Given the description of an element on the screen output the (x, y) to click on. 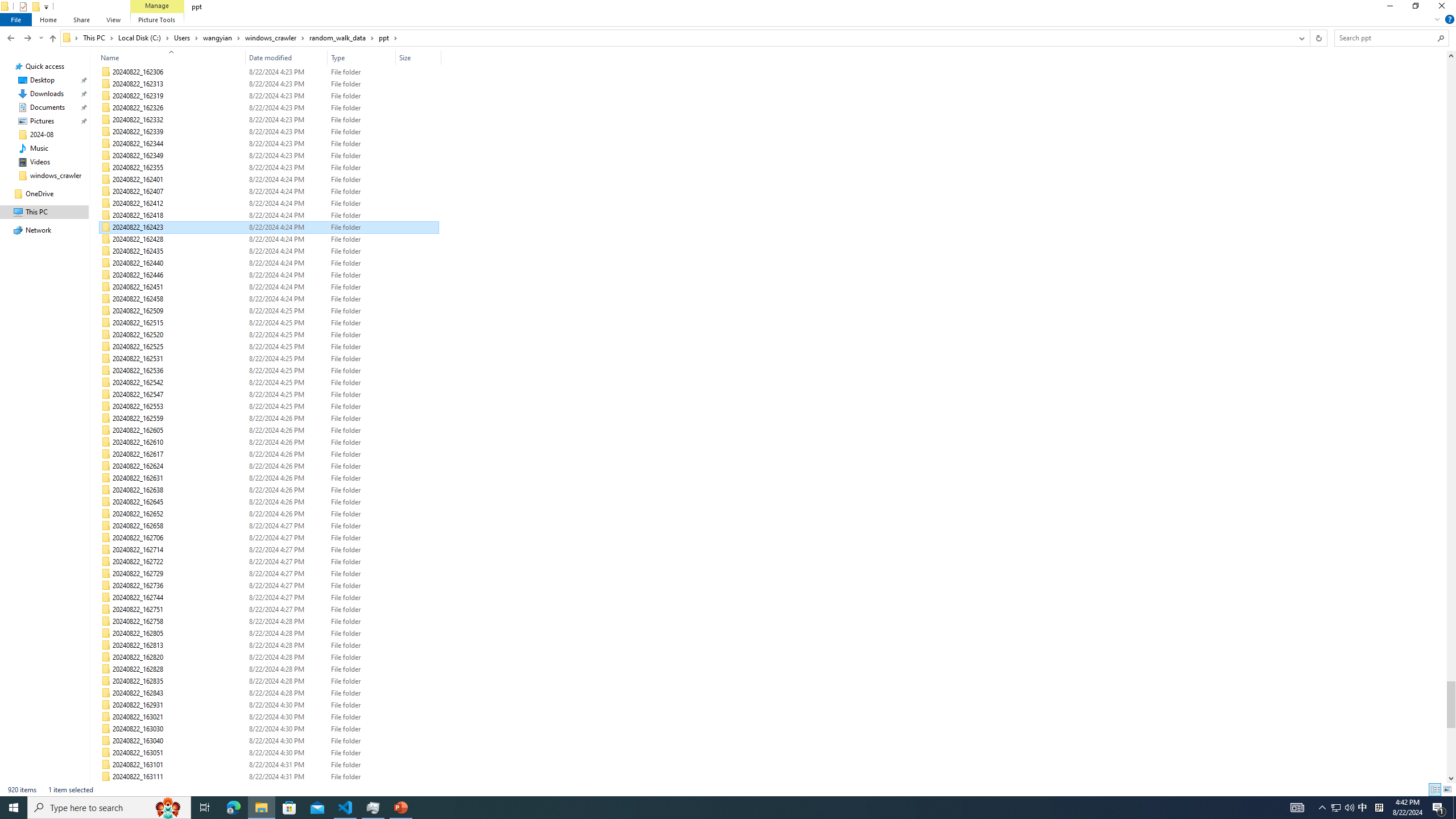
20240822_162744 (269, 597)
20240822_162658 (269, 526)
20240822_162319 (269, 96)
20240822_162645 (269, 502)
Details (1434, 789)
20240822_162306 (269, 72)
20240822_162520 (269, 334)
20240822_162638 (269, 490)
20240822_162617 (269, 453)
20240822_162813 (269, 645)
20240822_162828 (269, 669)
